Given the description of an element on the screen output the (x, y) to click on. 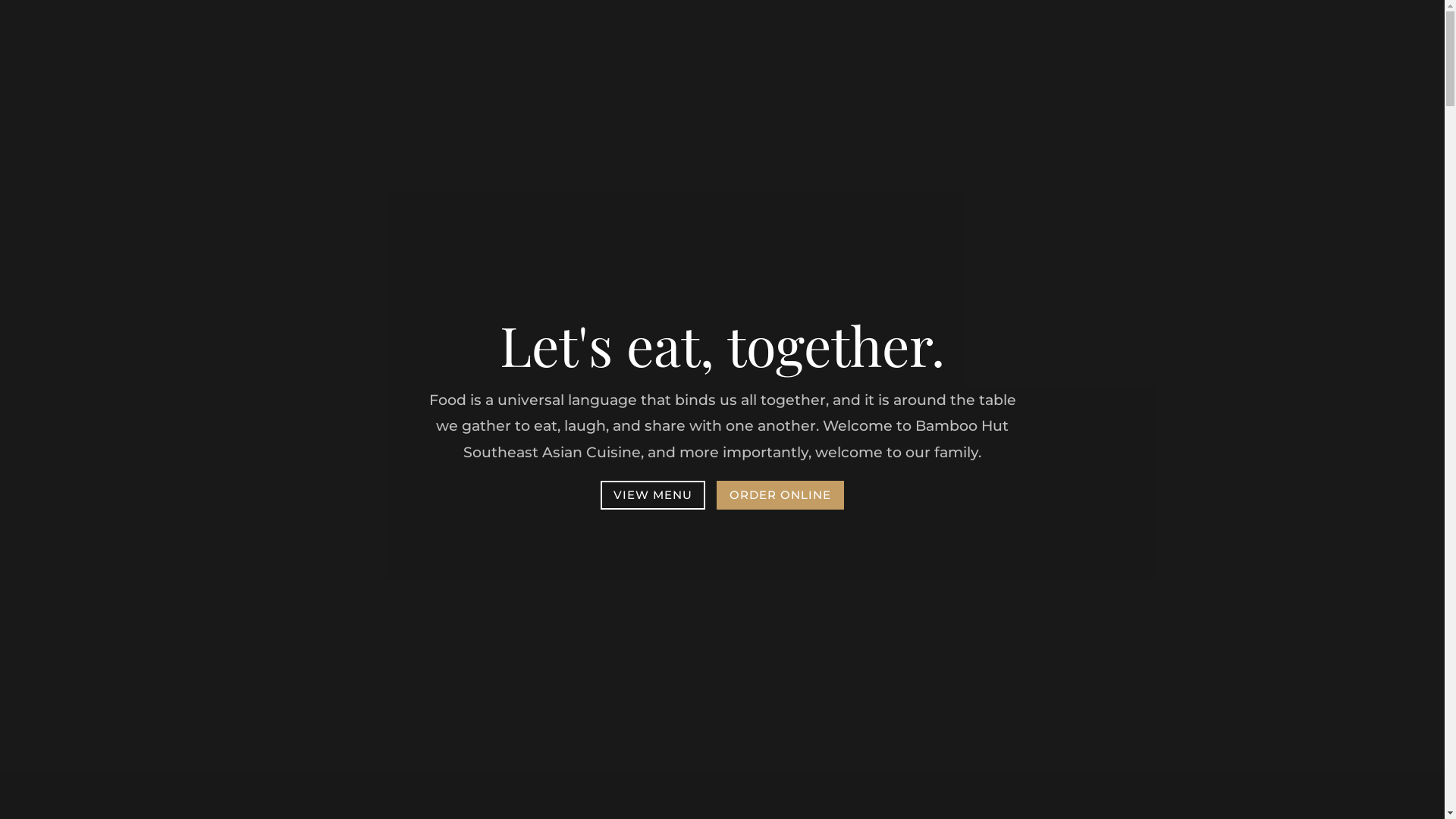
VIEW MENU Element type: text (652, 495)
ORDER ONLINE Element type: text (780, 495)
